Given the description of an element on the screen output the (x, y) to click on. 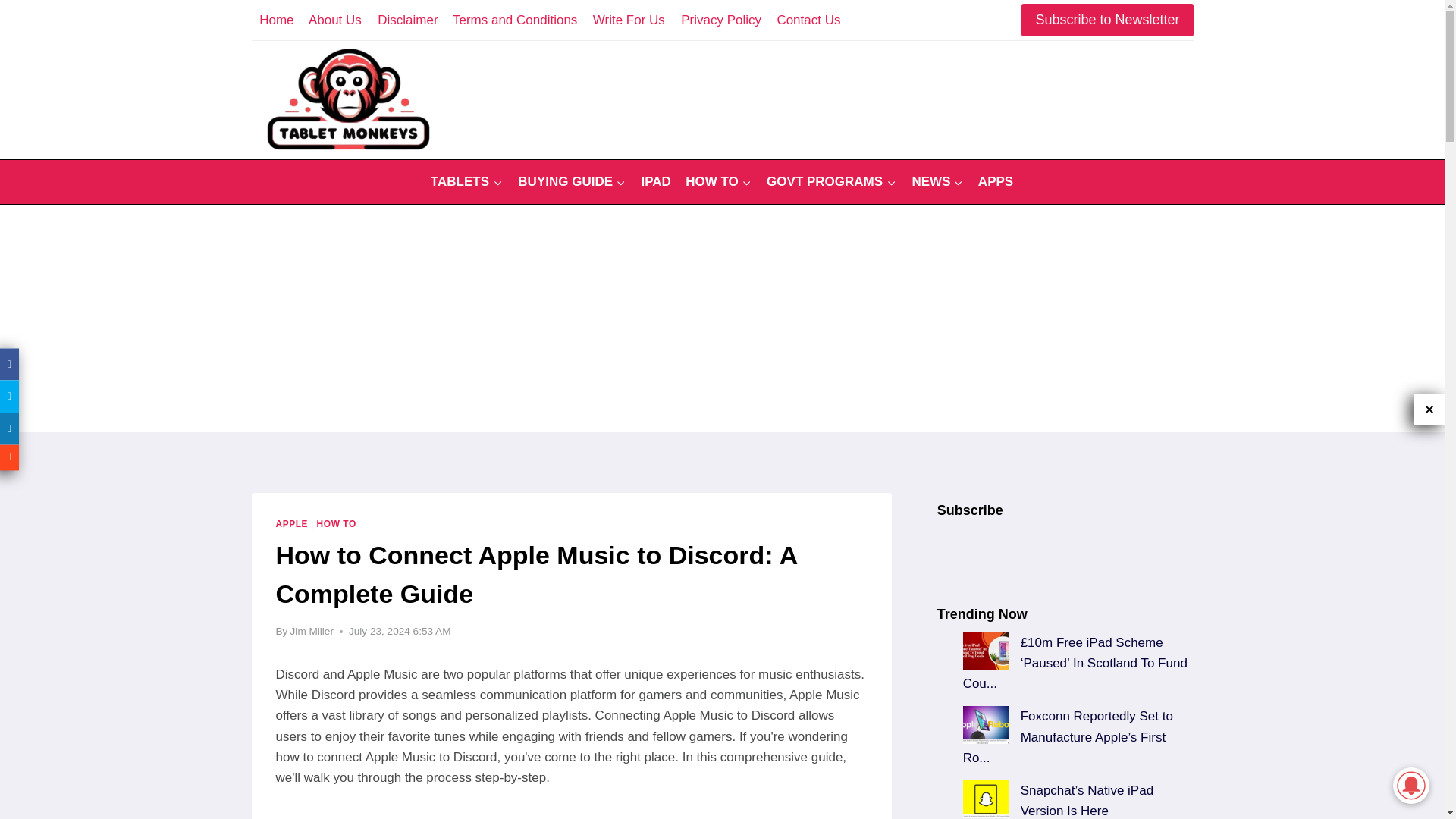
HOW TO (718, 181)
IPAD (655, 181)
Disclaimer (407, 19)
TABLETS (467, 181)
Jim Miller (311, 631)
Subscribe to Newsletter (1107, 20)
HOW TO (336, 523)
Home (276, 19)
APPS (996, 181)
